Given the description of an element on the screen output the (x, y) to click on. 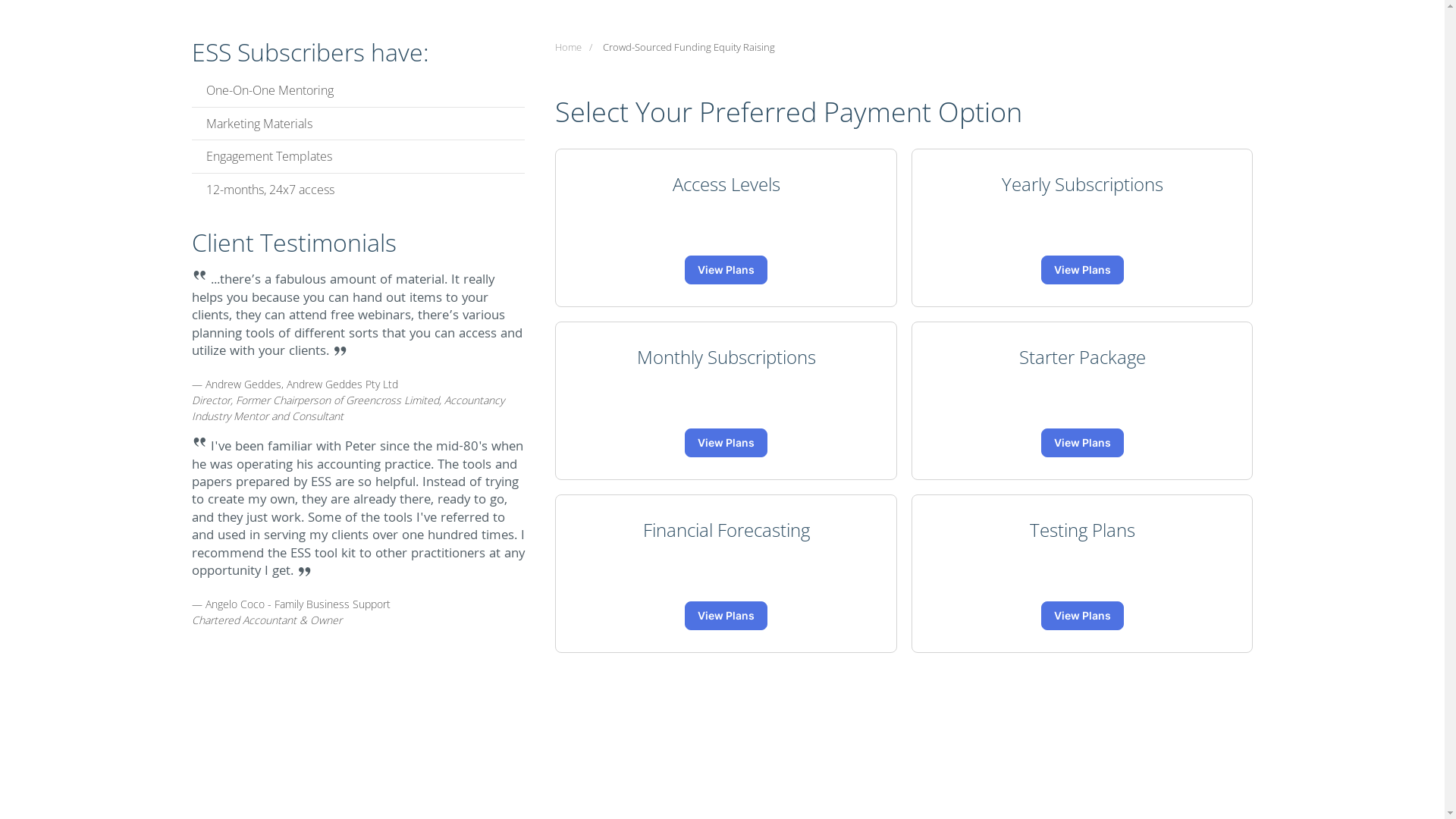
View Plans Element type: text (1082, 615)
View Plans Element type: text (1082, 269)
View Plans Element type: text (725, 269)
View Plans Element type: text (725, 442)
View Plans Element type: text (725, 615)
View Plans Element type: text (1082, 442)
Home Element type: text (568, 46)
